Given the description of an element on the screen output the (x, y) to click on. 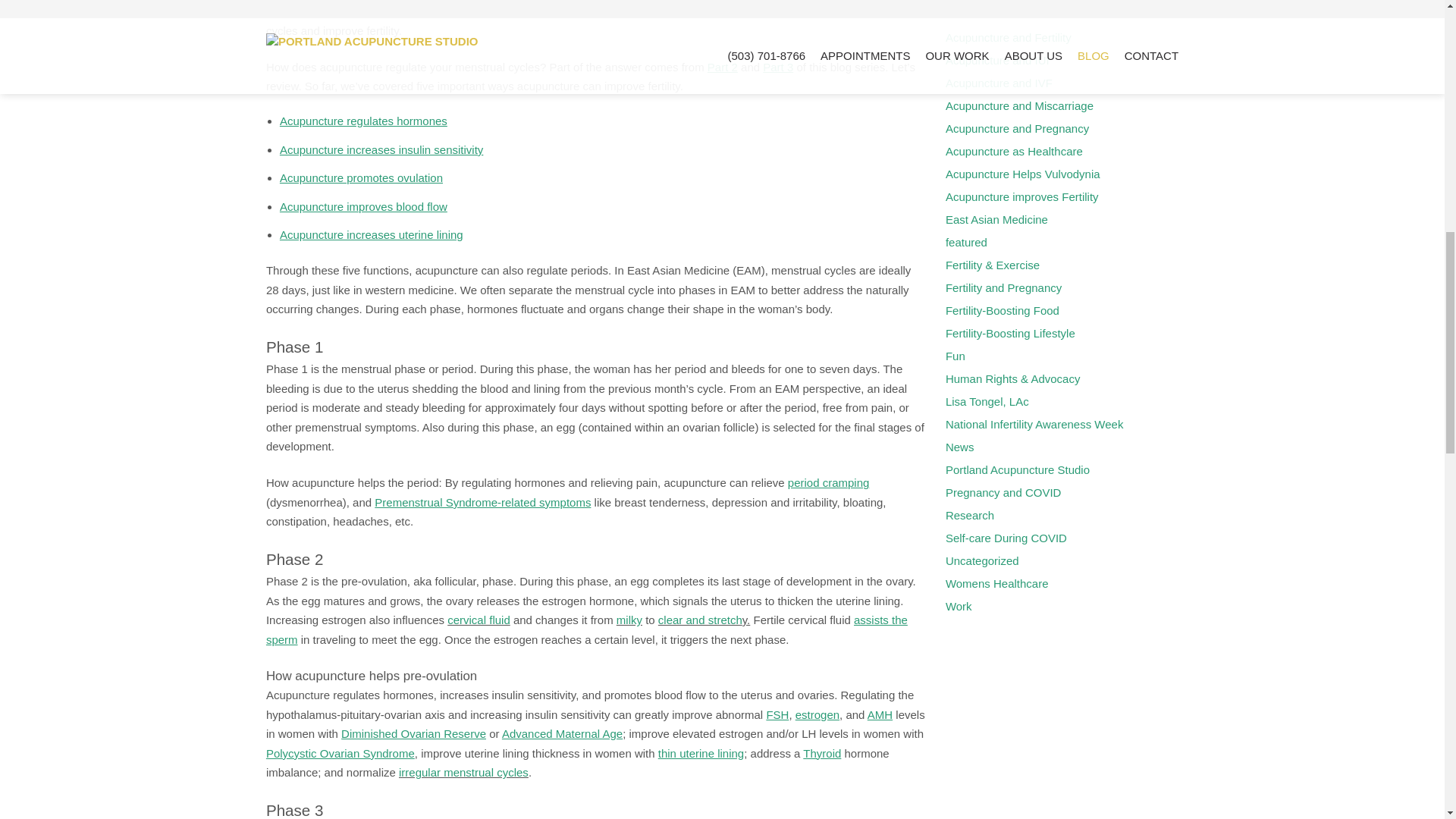
Acupuncture increases insulin sensitivity (381, 149)
Acupuncture improves blood flow (362, 205)
Part 2 (722, 66)
Acupuncture regulates hormones (362, 120)
BLOG SERIES PT 2: HOW ACUPUNCTURE IMPROVES FERTILITY (722, 66)
cervical fluid (478, 619)
BLOG SERIES PT 3: ACUPUNCTURE IMPROVES FERTILITY (777, 66)
Acupuncture promotes ovulation (360, 177)
Part 3 (777, 66)
BLOG SERIES PT 3: ACUPUNCTURE IMPROVES FERTILITY (362, 205)
Premenstrual Syndrome-related symptoms (482, 502)
Acupuncture increases uterine lining (371, 234)
milky (628, 619)
clear and stretch (700, 619)
period cramping (828, 481)
